Given the description of an element on the screen output the (x, y) to click on. 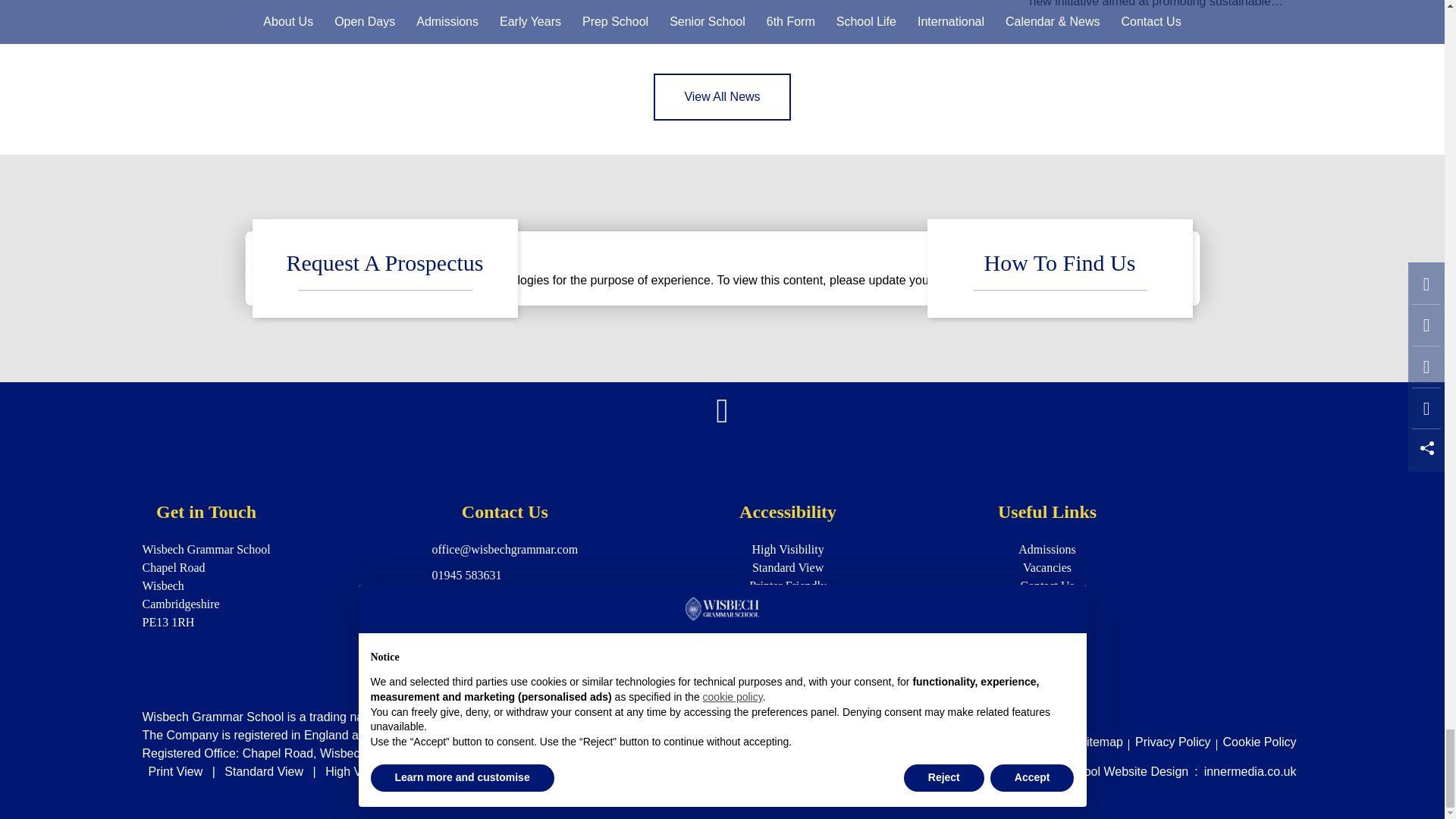
Switch to Standard Visibility (263, 771)
Switch to High Visibility (360, 771)
Switch to Print (175, 771)
